Given the description of an element on the screen output the (x, y) to click on. 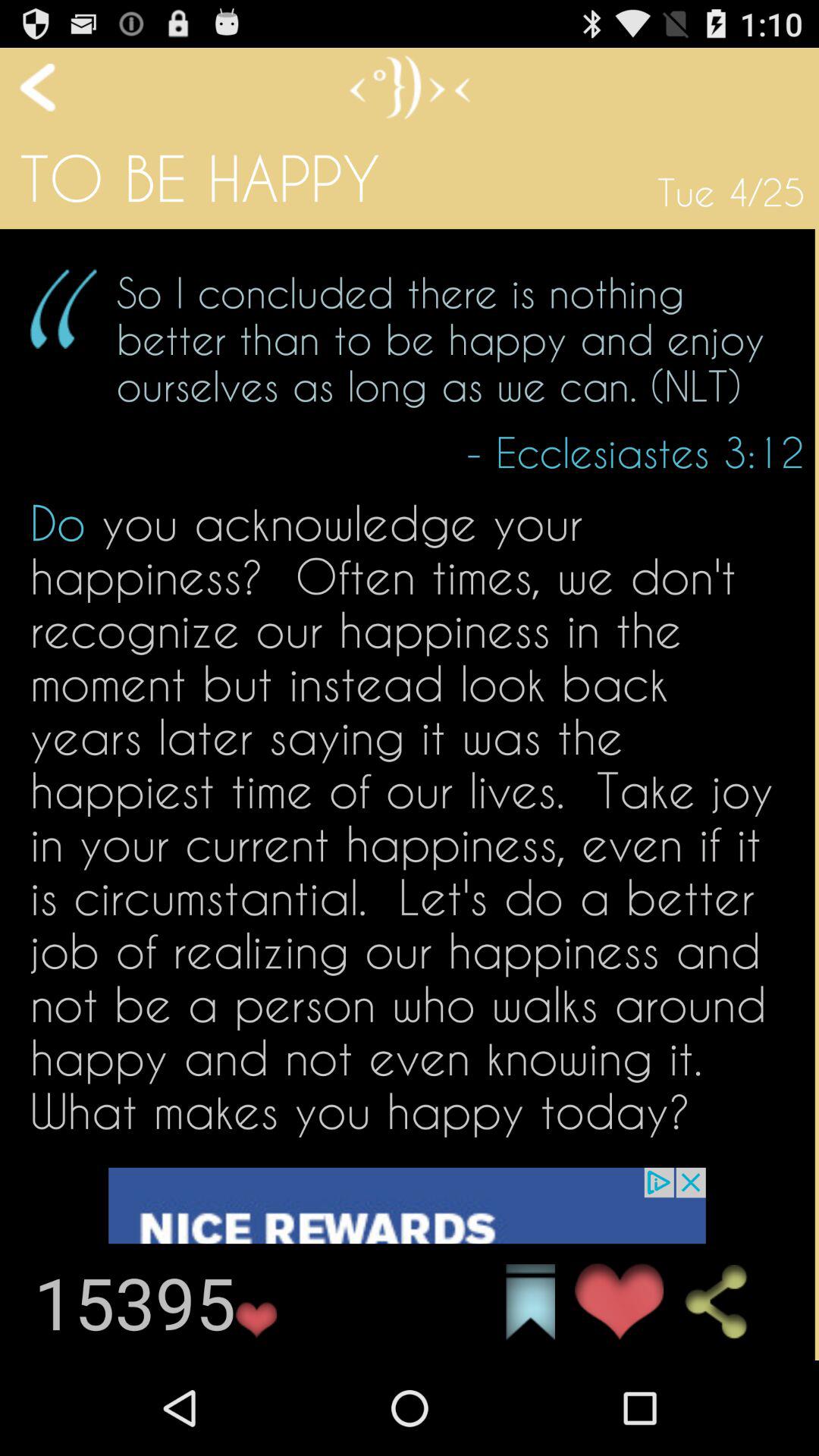
share link (729, 1301)
